Given the description of an element on the screen output the (x, y) to click on. 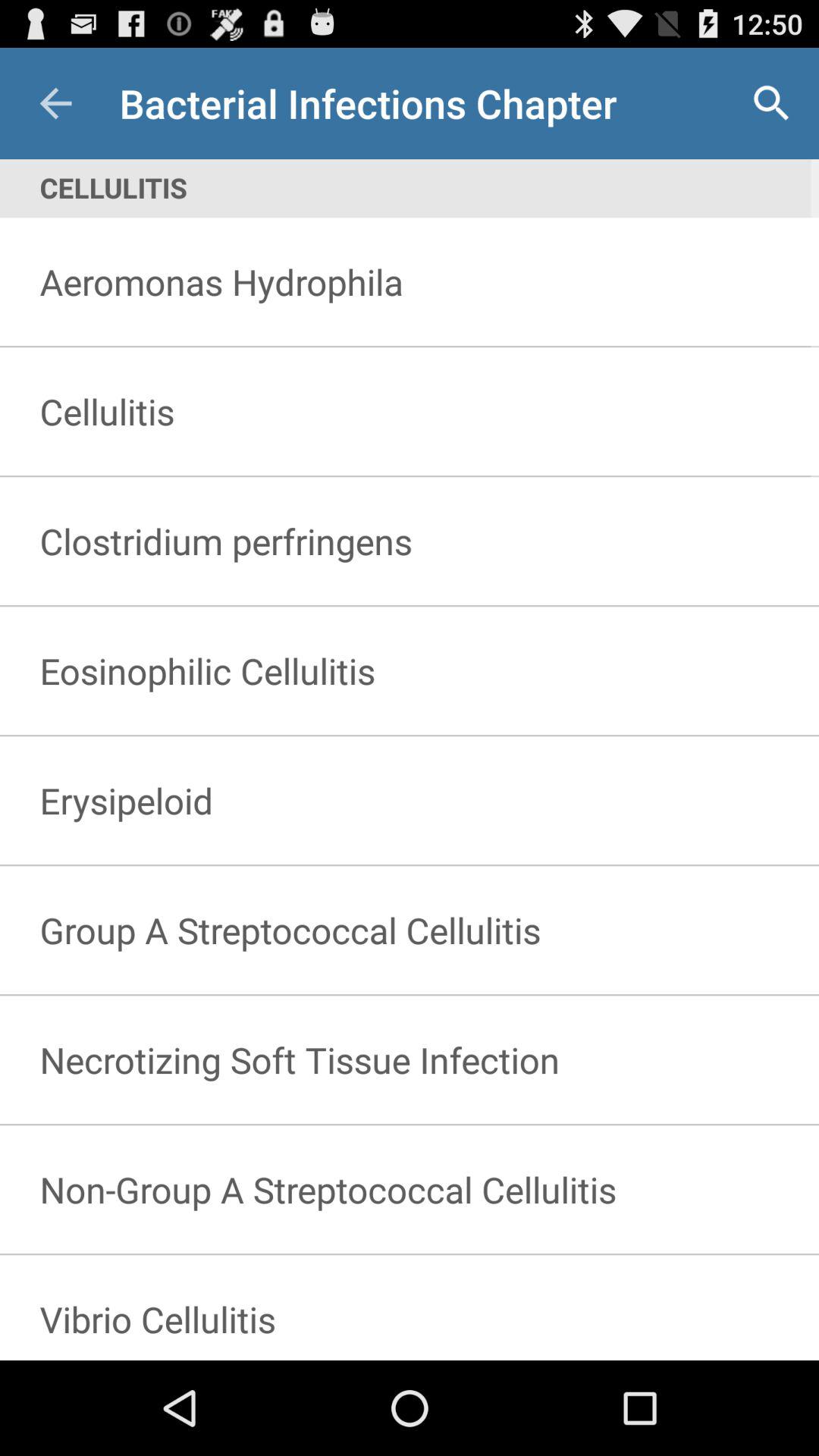
press the icon next to the bacterial infections chapter (771, 103)
